Given the description of an element on the screen output the (x, y) to click on. 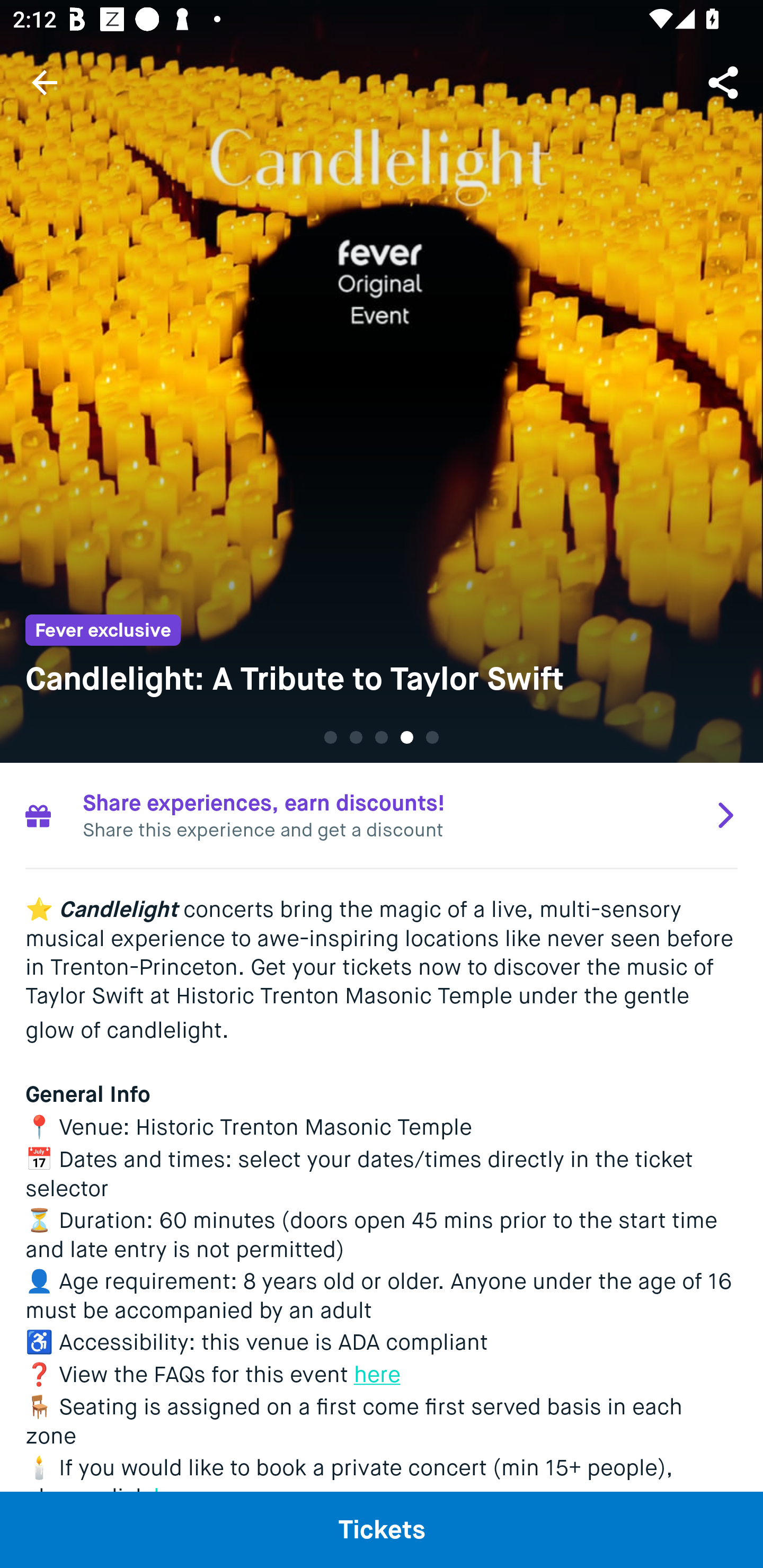
Navigate up (44, 82)
Share (724, 81)
Tickets (381, 1529)
